Given the description of an element on the screen output the (x, y) to click on. 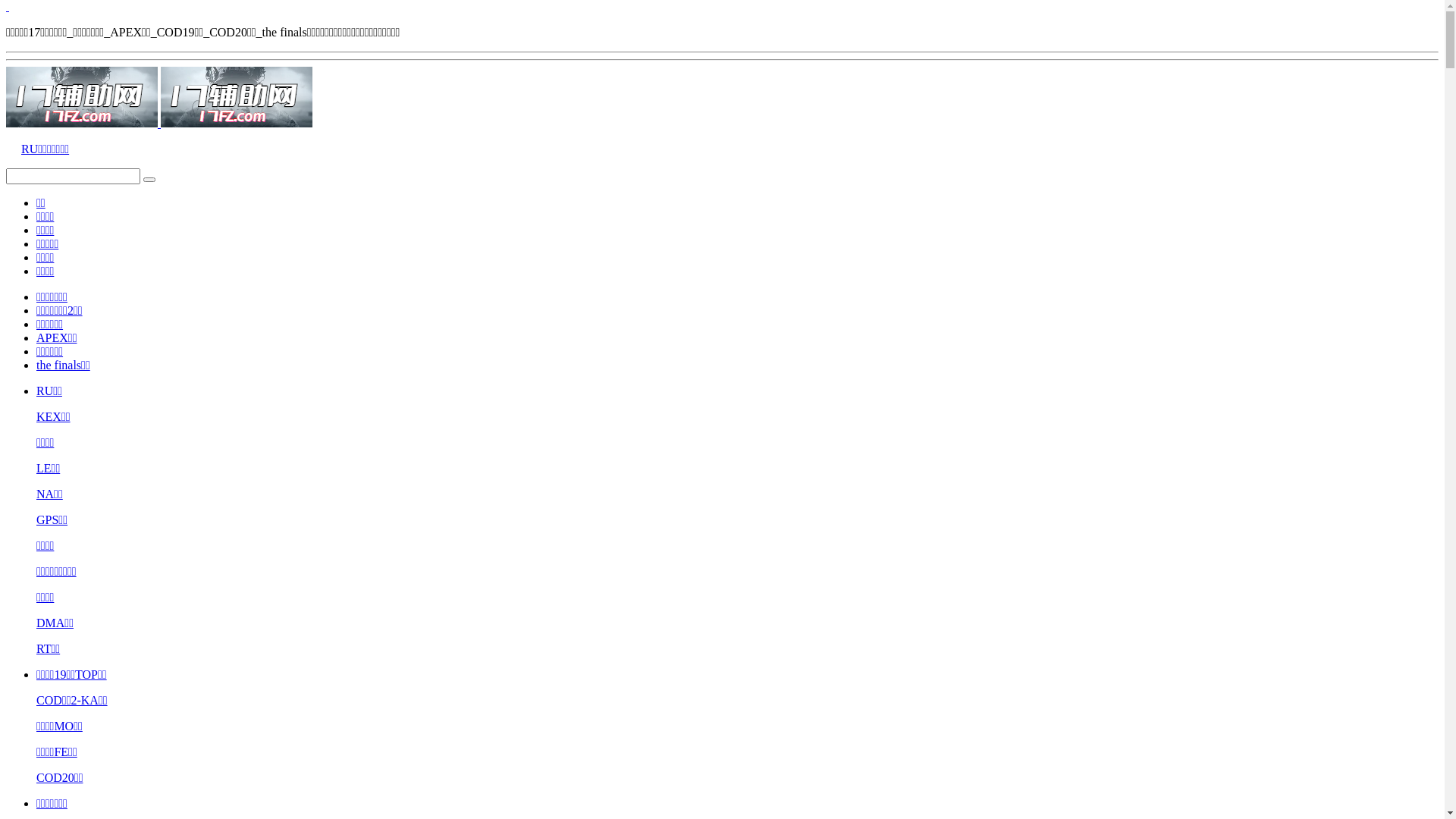
  Element type: text (722, 6)
